Given the description of an element on the screen output the (x, y) to click on. 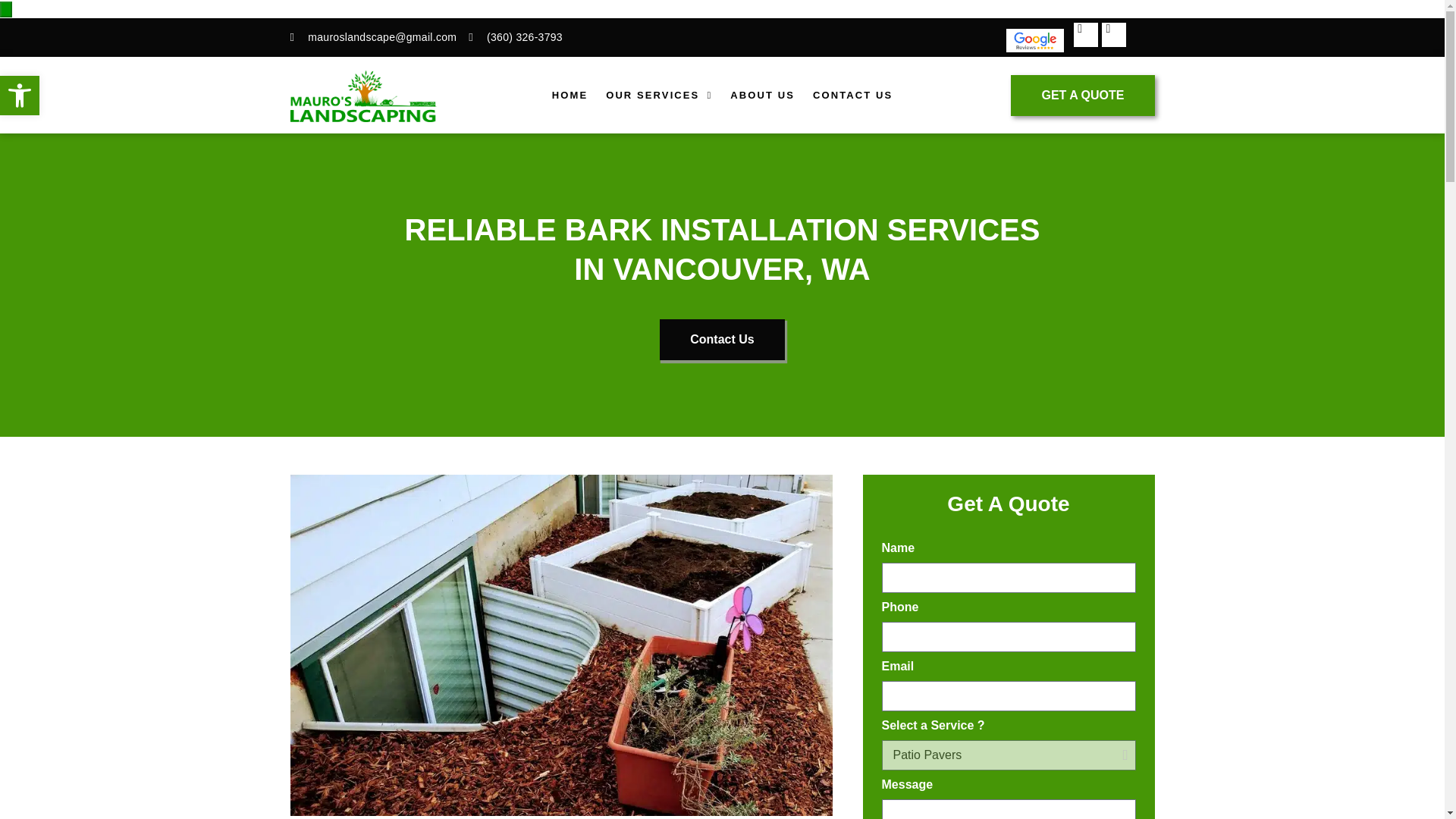
CONTACT US (852, 95)
Accessibility Tools (19, 95)
HOME (569, 95)
ABOUT US (761, 95)
OUR SERVICES (658, 95)
Accessibility Tools (19, 95)
